Given the description of an element on the screen output the (x, y) to click on. 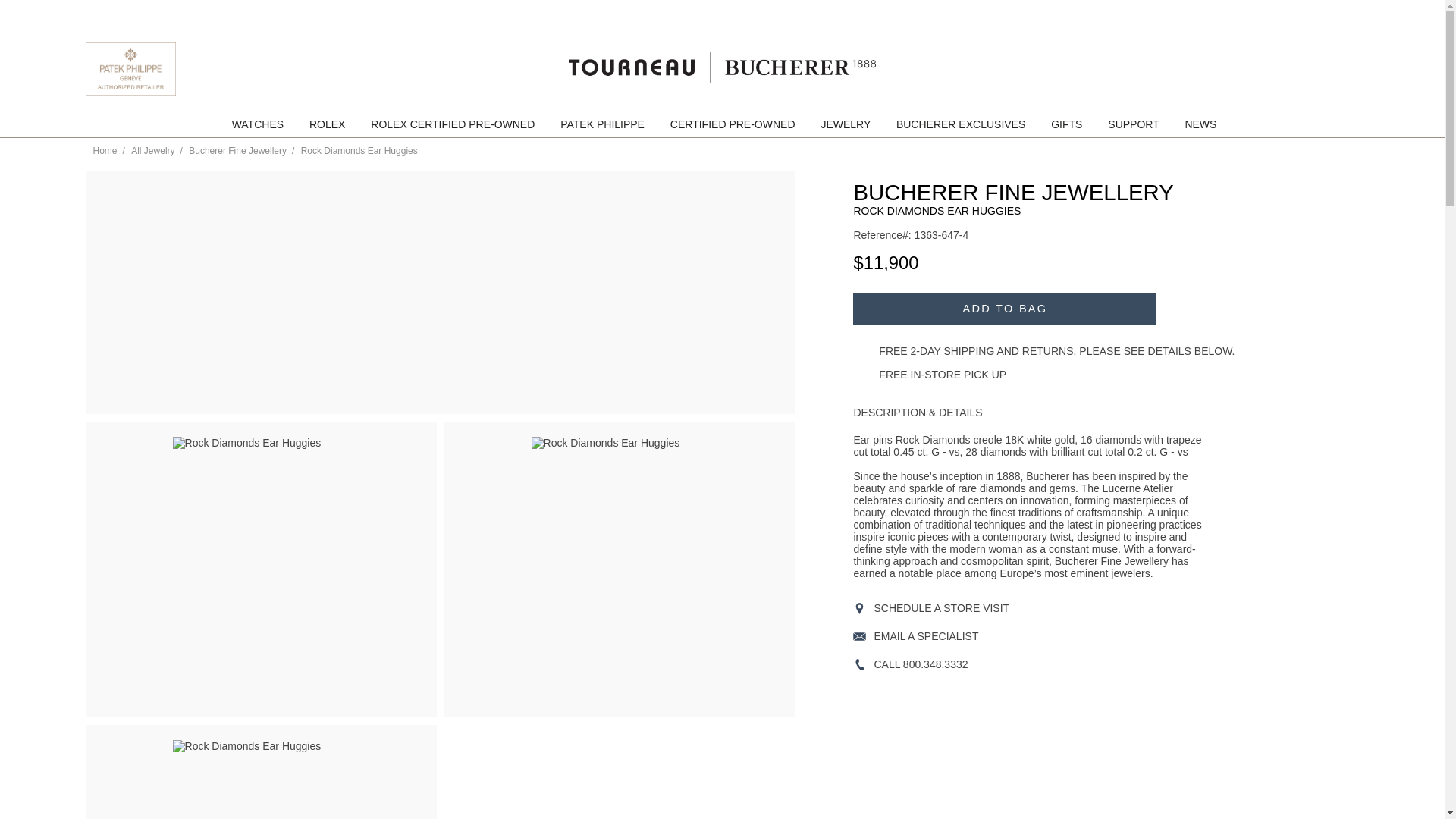
Rock Diamonds Ear Huggies (261, 779)
Add to Bag (1004, 308)
Rolex Official Retailer (1301, 68)
Call (1074, 664)
Add to Wishlist (1173, 308)
WATCHES (259, 124)
View in Store (1074, 608)
go (1350, 13)
Email a Specialist (1074, 635)
Patek Philippe (129, 91)
